Given the description of an element on the screen output the (x, y) to click on. 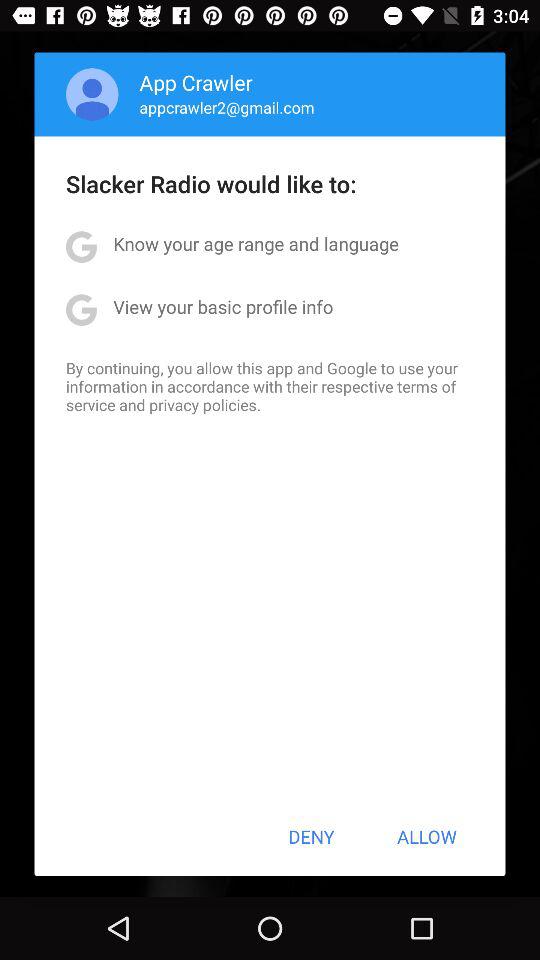
turn off appcrawler2@gmail.com app (226, 107)
